Given the description of an element on the screen output the (x, y) to click on. 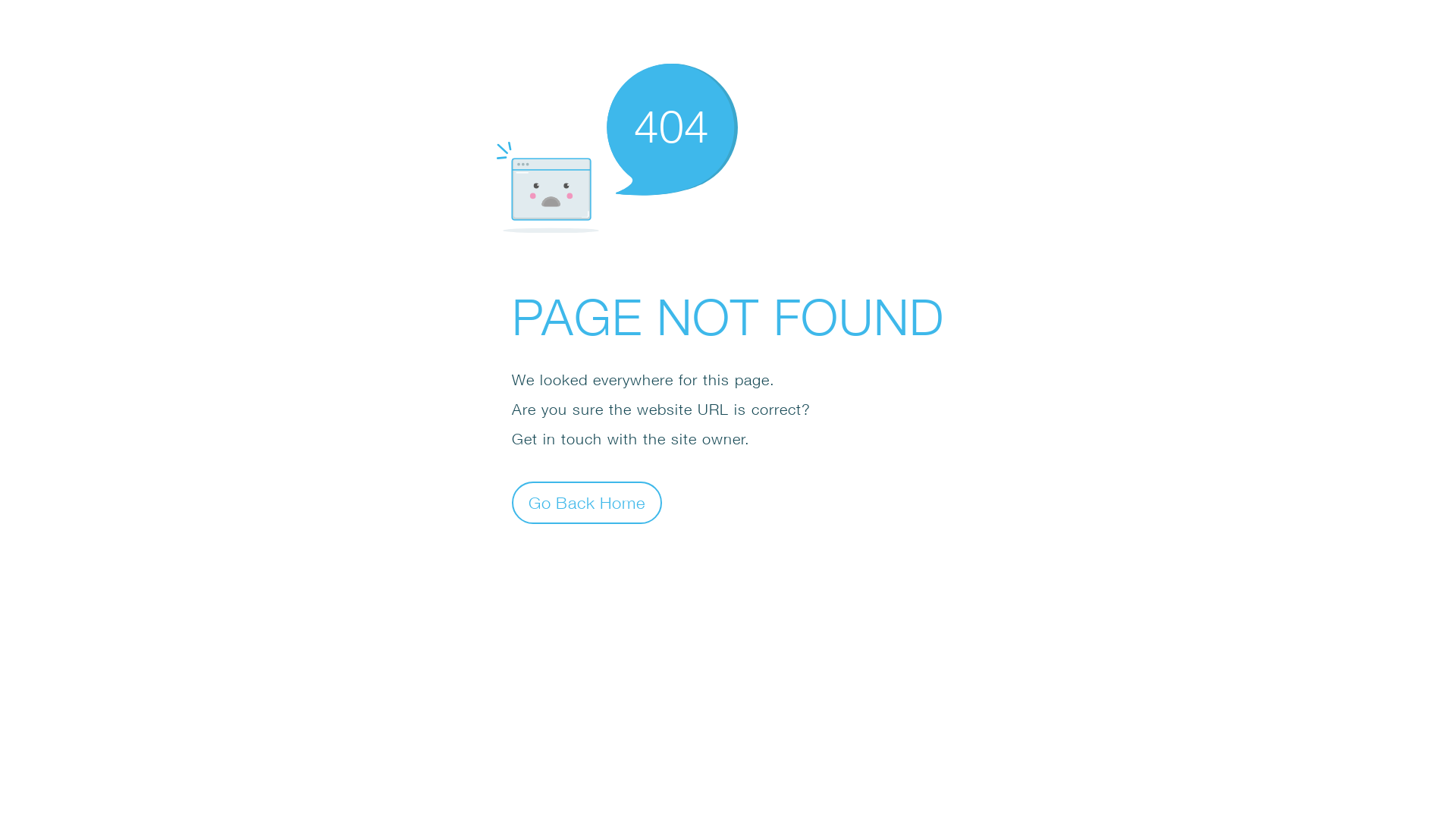
Go Back Home Element type: text (586, 502)
